Given the description of an element on the screen output the (x, y) to click on. 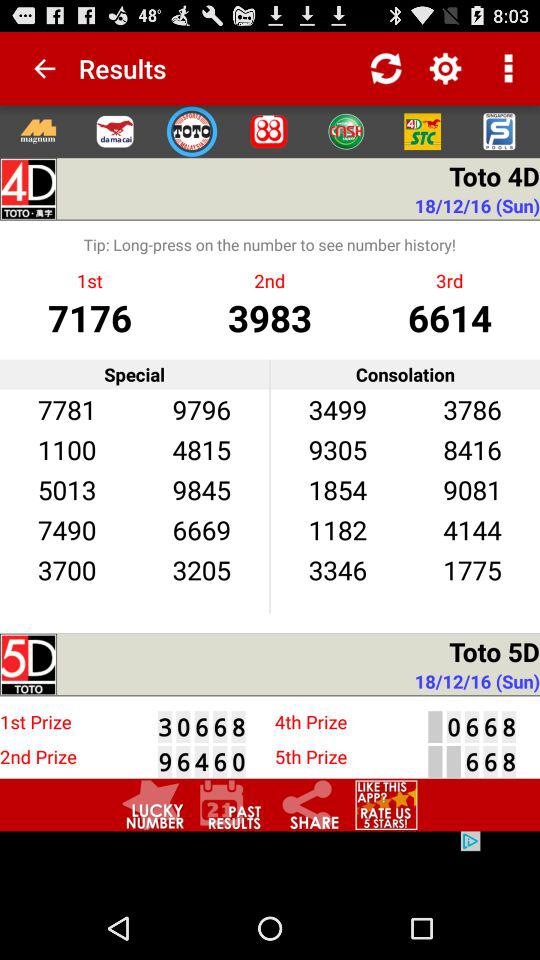
choose the item to the right of the 1854 icon (472, 529)
